Given the description of an element on the screen output the (x, y) to click on. 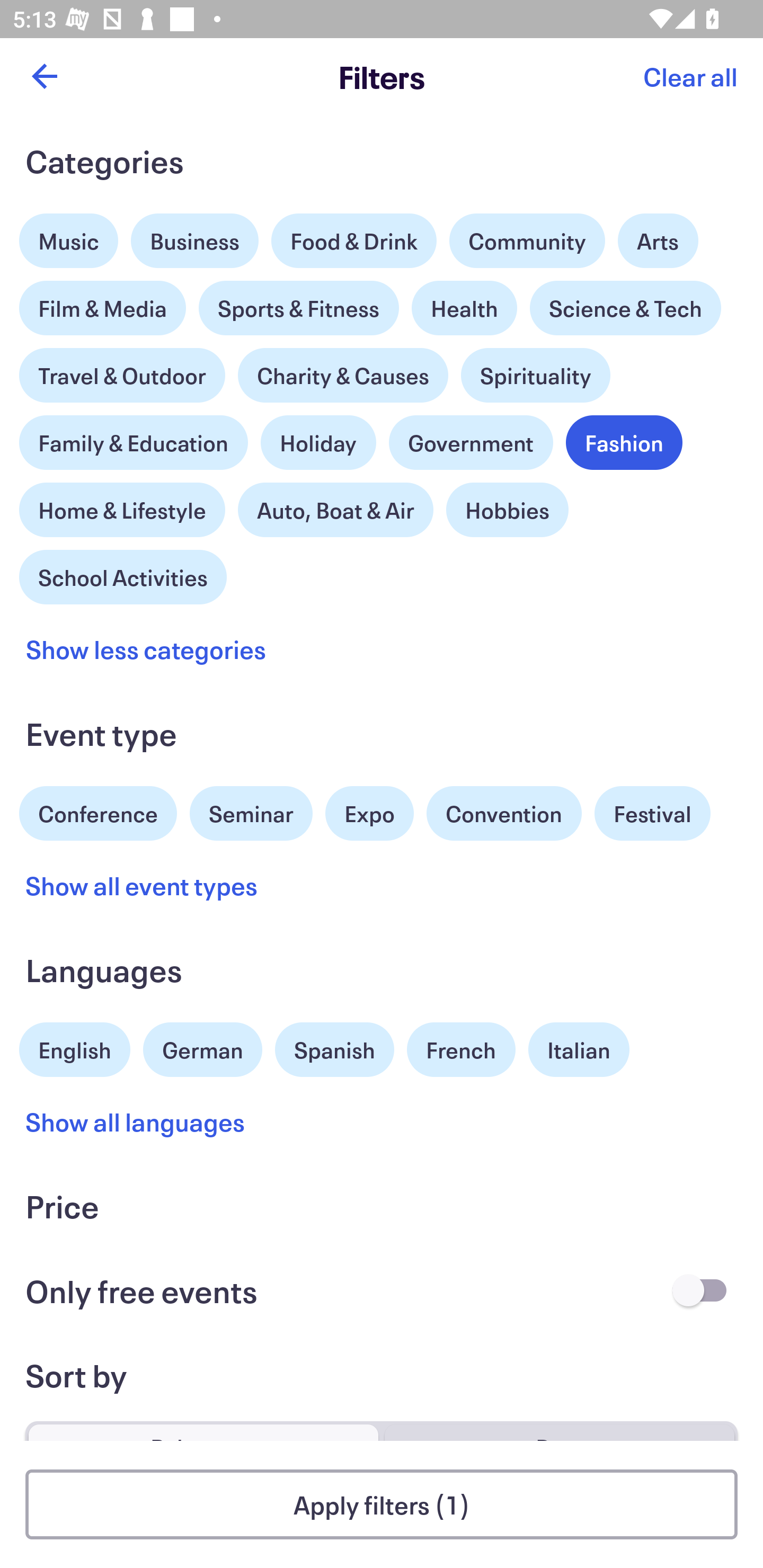
Back button (44, 75)
Clear all (690, 75)
Music (68, 235)
Business (194, 240)
Food & Drink (353, 240)
Community (527, 240)
Arts (658, 235)
Film & Media (102, 303)
Sports & Fitness (298, 307)
Health (464, 307)
Science & Tech (625, 307)
Travel & Outdoor (122, 370)
Charity & Causes (343, 375)
Spirituality (535, 375)
Family & Education (133, 442)
Holiday (318, 437)
Government (471, 442)
Fashion (624, 442)
Home & Lifestyle (122, 505)
Auto, Boat & Air (335, 509)
Hobbies (507, 509)
School Activities (122, 575)
Show less categories (145, 648)
Conference (98, 811)
Seminar (250, 813)
Expo (369, 813)
Convention (503, 813)
Festival (652, 813)
Show all event types (141, 884)
English (74, 1047)
German (202, 1047)
Spanish (334, 1049)
French (460, 1049)
Italian (578, 1049)
Show all languages (135, 1121)
Apply filters (1) (381, 1504)
